Given the description of an element on the screen output the (x, y) to click on. 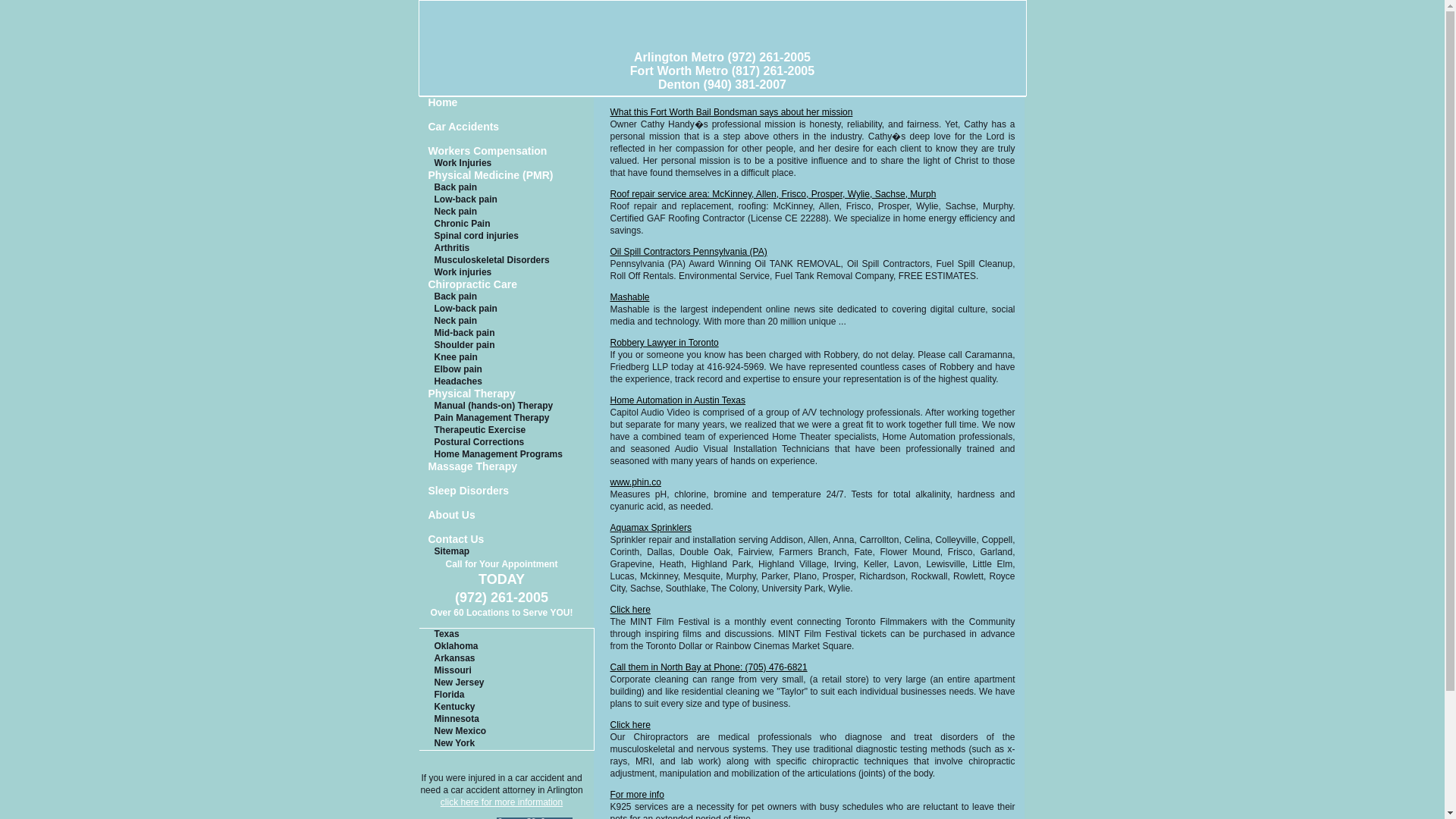
Physical Therapy (506, 395)
Work injuries (506, 272)
Texas (505, 634)
Workers Compensation (506, 151)
Elbow pain (506, 369)
Click here (629, 724)
Contact Us (506, 540)
Neck pain (506, 212)
For more info (636, 794)
Neck pain (506, 321)
